Given the description of an element on the screen output the (x, y) to click on. 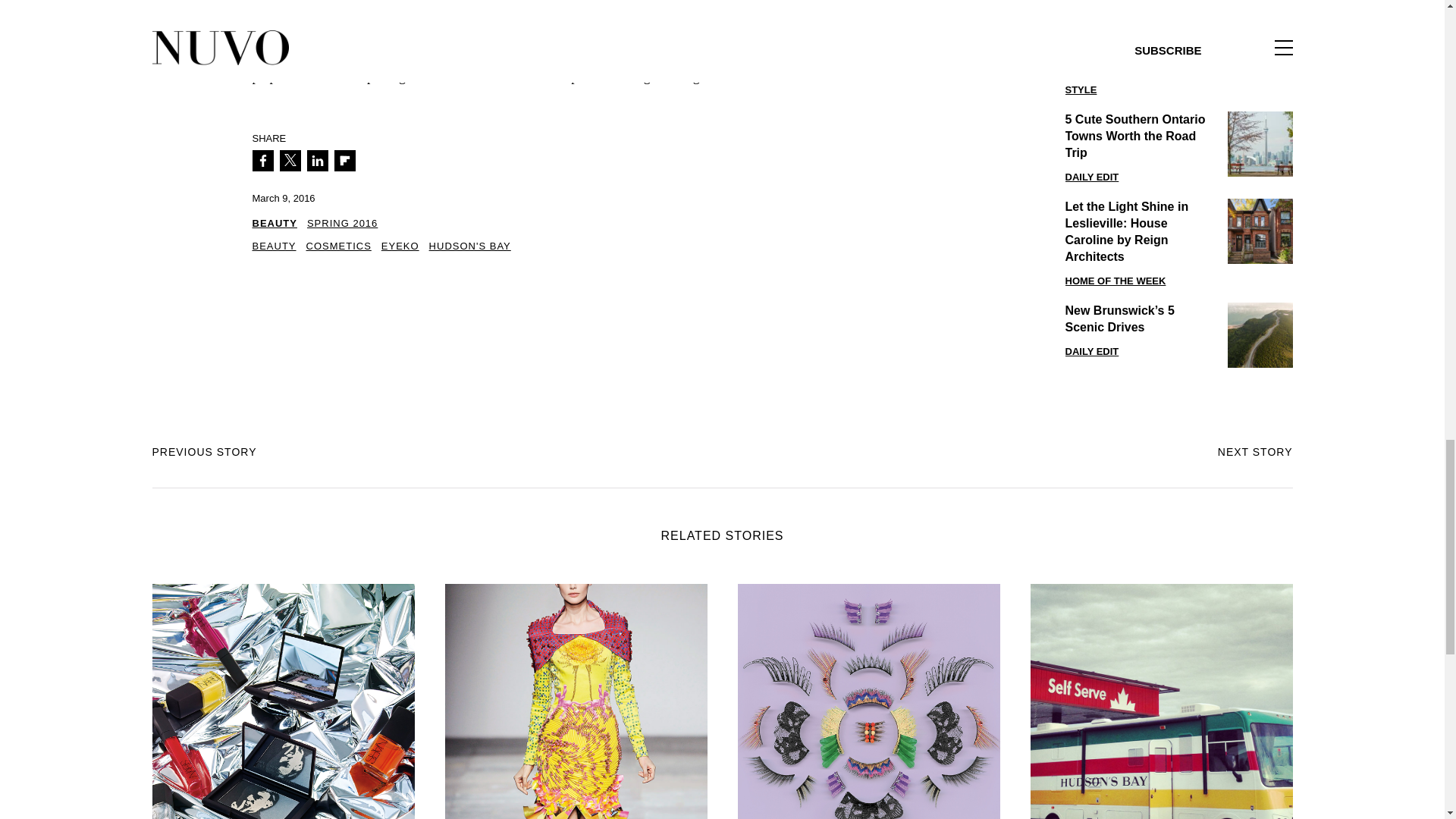
Facebook (262, 160)
LinkedIn (316, 160)
Twitter (289, 160)
STYLE (1080, 89)
Flipboard (344, 160)
